Given the description of an element on the screen output the (x, y) to click on. 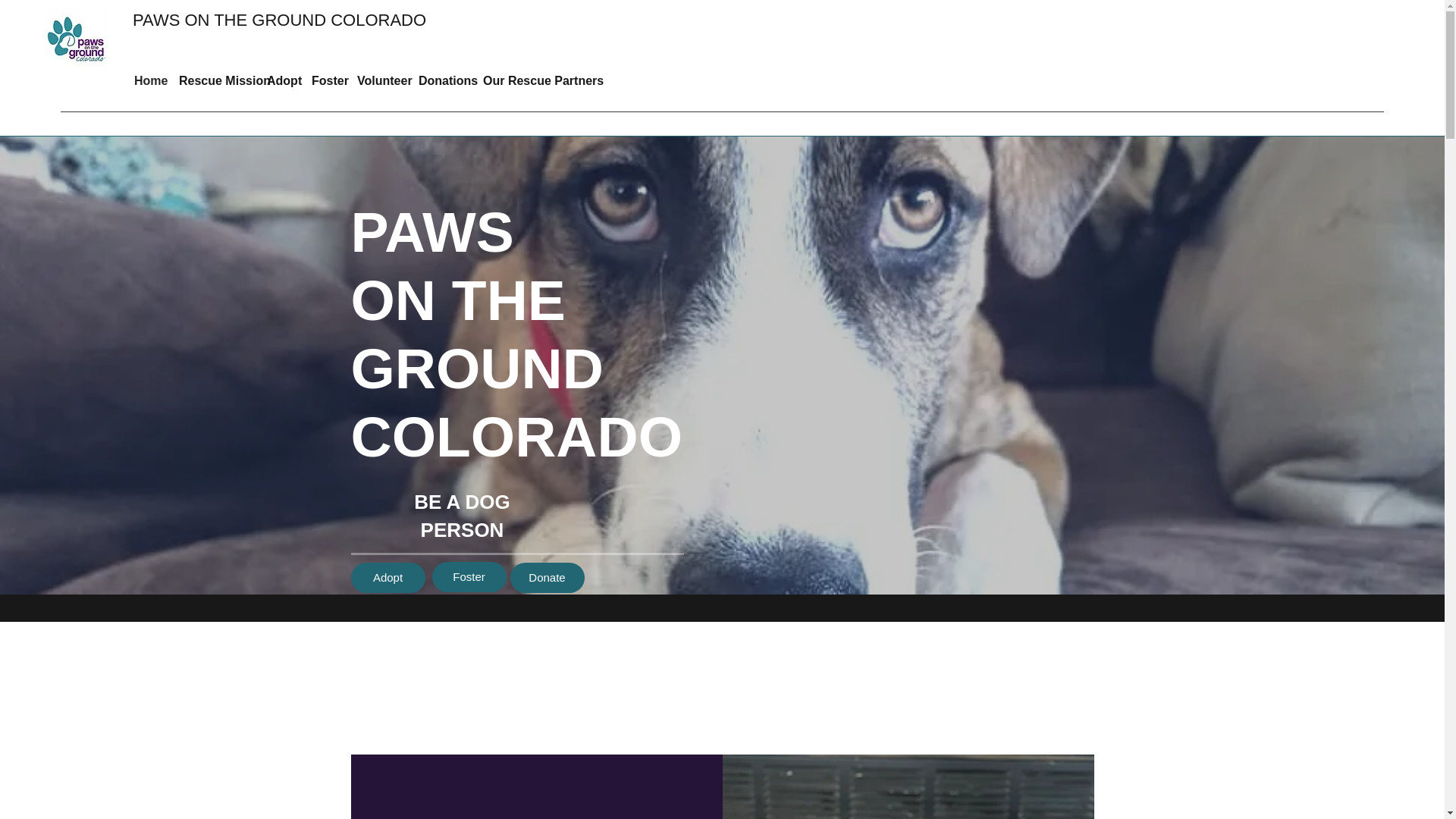
Foster (326, 80)
PAWS ON THE GROUND COLORADO (279, 19)
Donations (443, 80)
Volunteer (379, 80)
Our Rescue Partners (532, 80)
Rescue Mission (215, 80)
Adopt (387, 577)
Home (148, 80)
Foster (469, 576)
Adopt (281, 80)
Donate (546, 577)
